Given the description of an element on the screen output the (x, y) to click on. 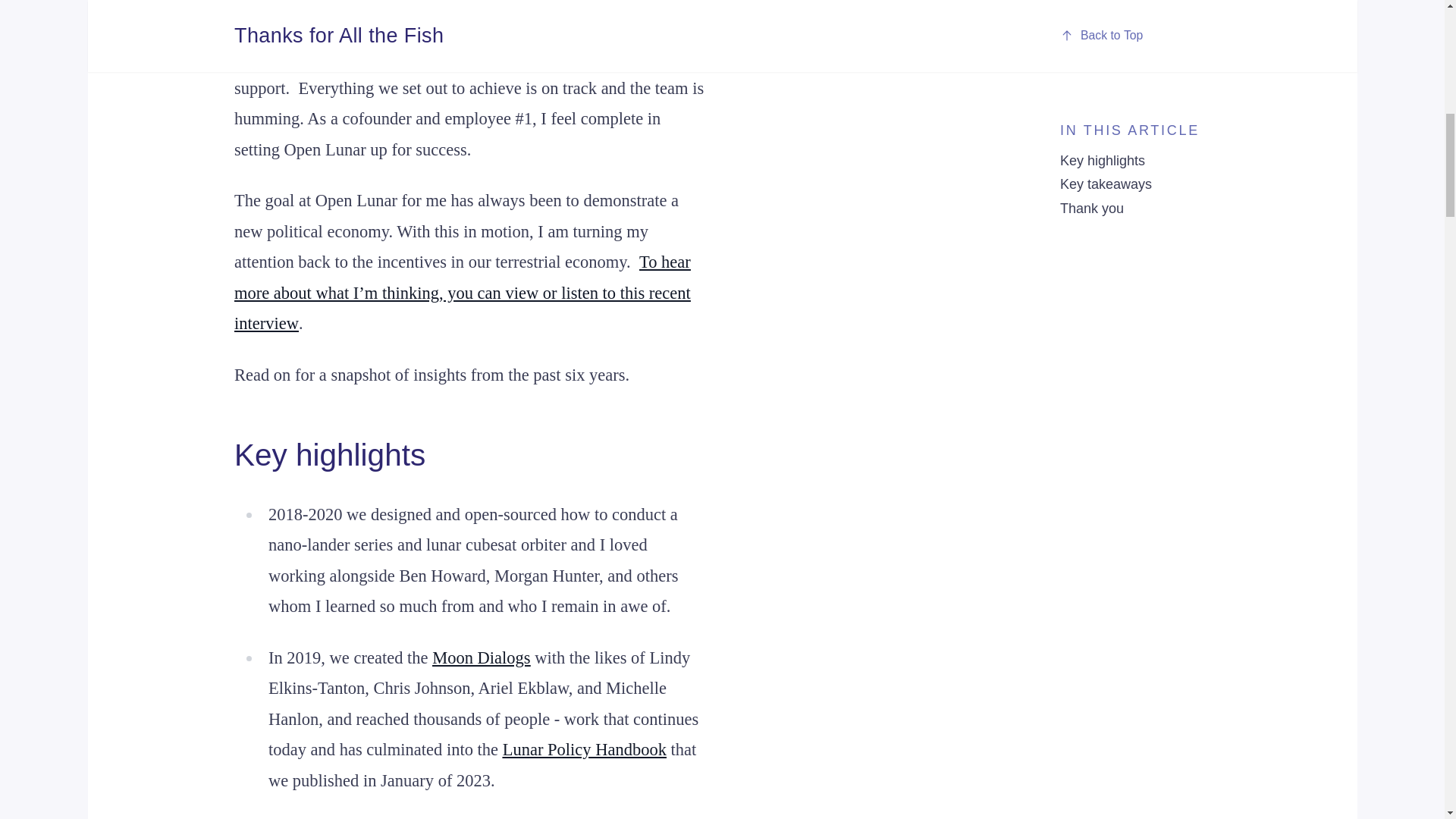
Moon Dialogs (480, 657)
Lunar Policy Handbook (584, 749)
